Given the description of an element on the screen output the (x, y) to click on. 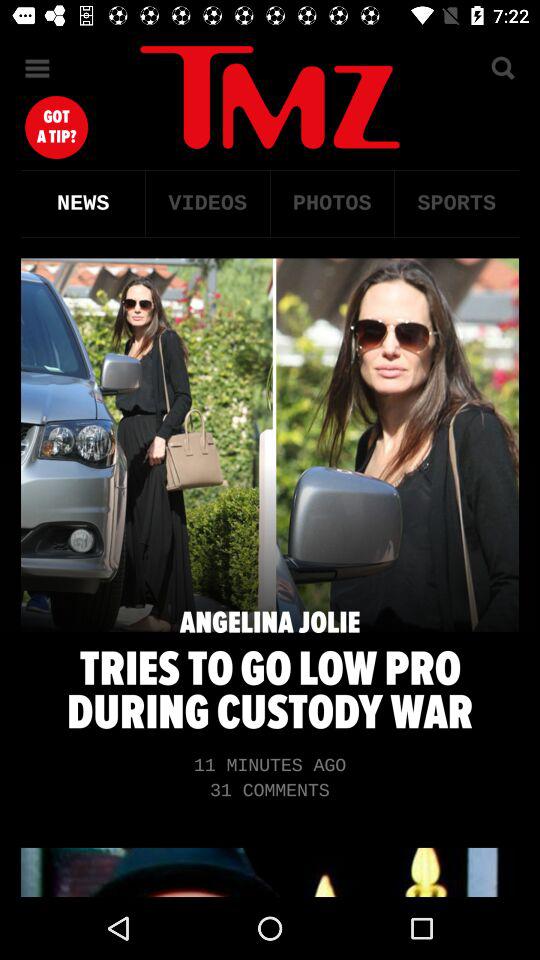
toggle menu option (37, 68)
